Given the description of an element on the screen output the (x, y) to click on. 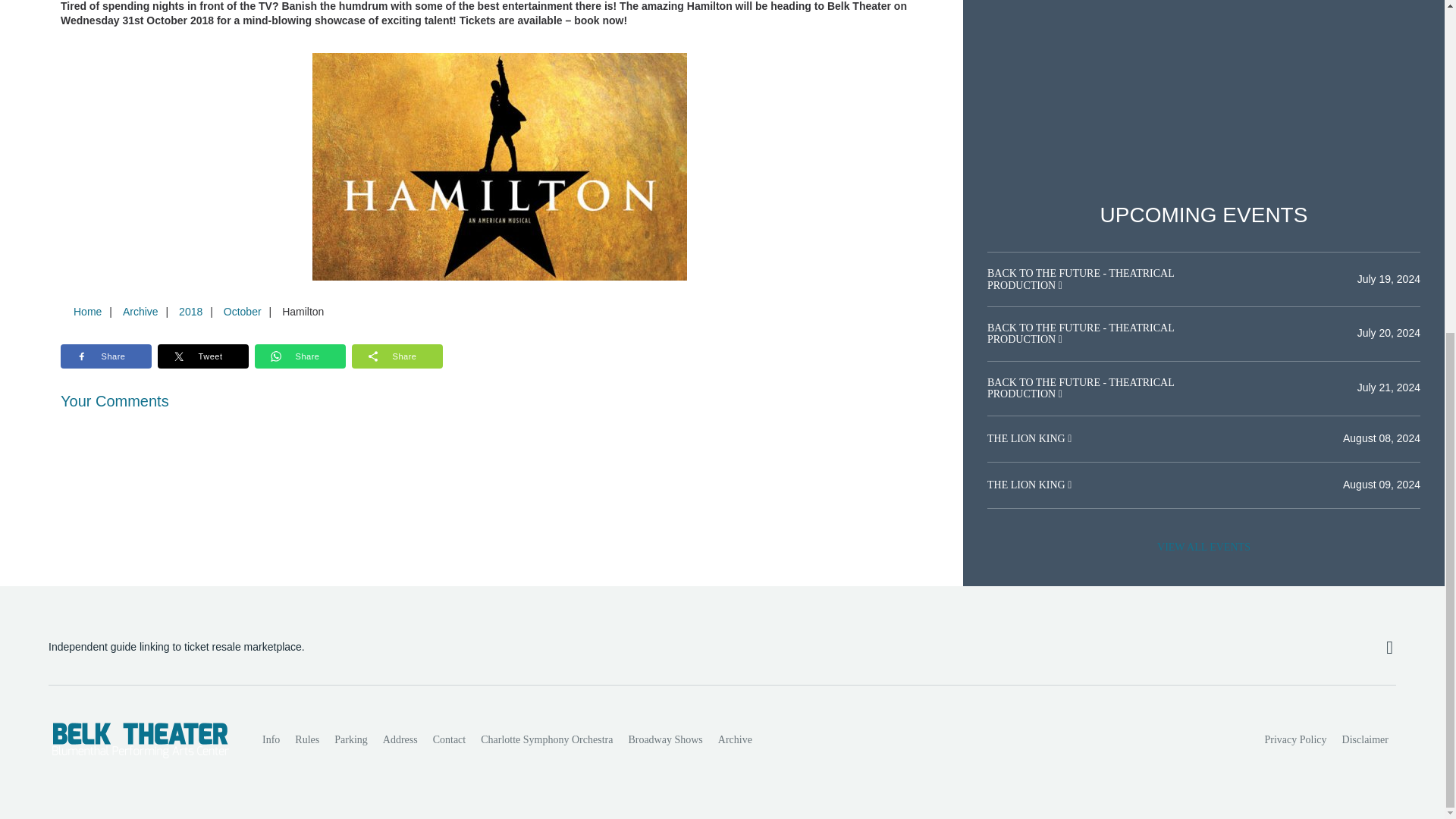
October (242, 311)
Parking (350, 739)
Charlotte Symphony Orchestra (546, 739)
BACK TO THE FUTURE - THEATRICAL PRODUCTION (1080, 278)
Contact (449, 739)
Disclaimer (1365, 739)
Rules (306, 739)
Home (87, 311)
2018 (190, 311)
BACK TO THE FUTURE - THEATRICAL PRODUCTION (1080, 387)
Archive (735, 739)
VIEW ALL EVENTS (1203, 547)
Privacy Policy (1296, 739)
Info (270, 739)
THE LION KING (1027, 484)
